Given the description of an element on the screen output the (x, y) to click on. 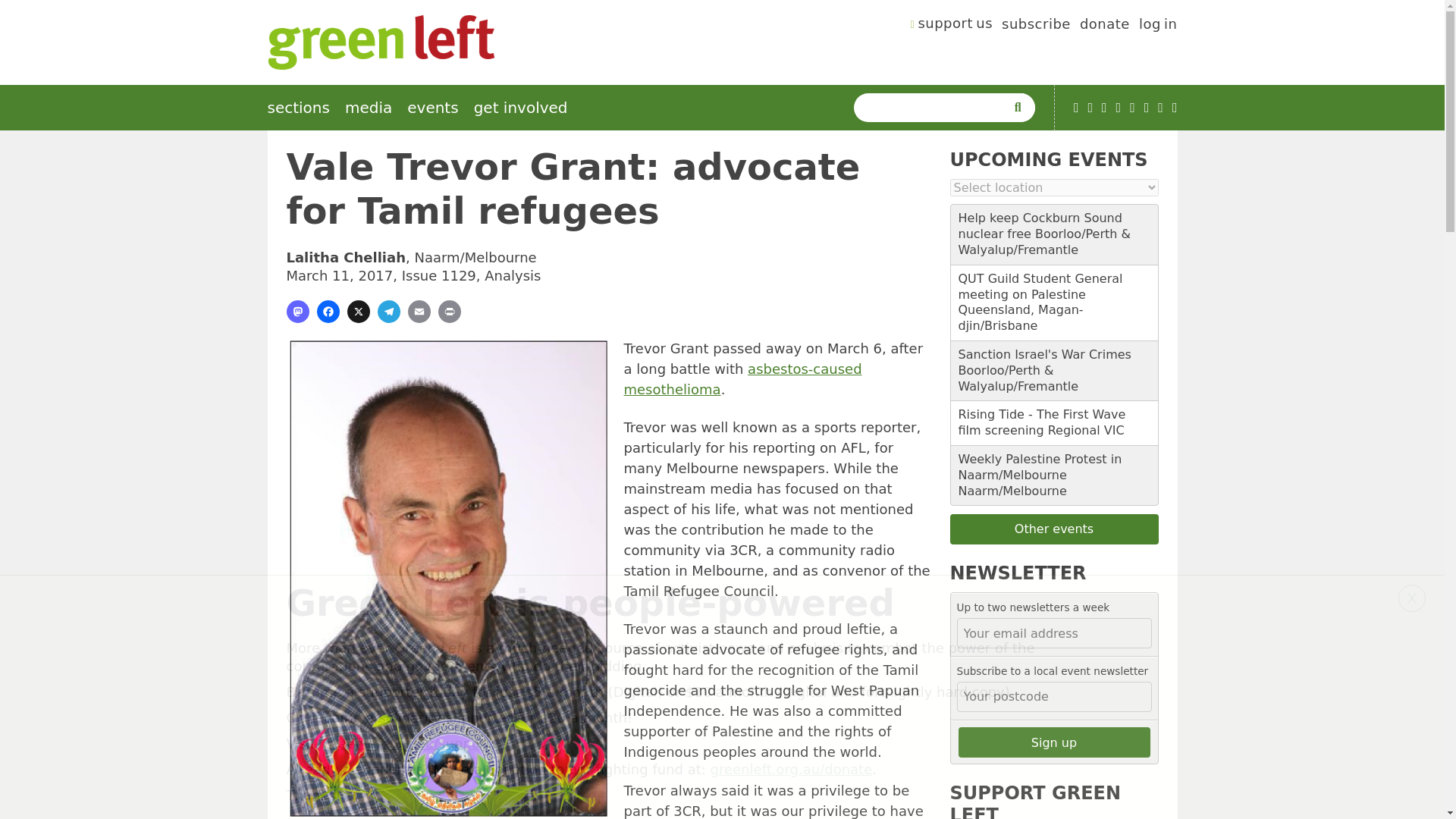
Share on Facebook (328, 311)
Share on Telegram (388, 311)
Share on X (358, 311)
Share on Mastondon (297, 311)
Print (449, 311)
share via email (418, 311)
log in (1157, 26)
events (432, 107)
Enter the terms you wish to search for. (932, 107)
subscribe (1035, 26)
